Given the description of an element on the screen output the (x, y) to click on. 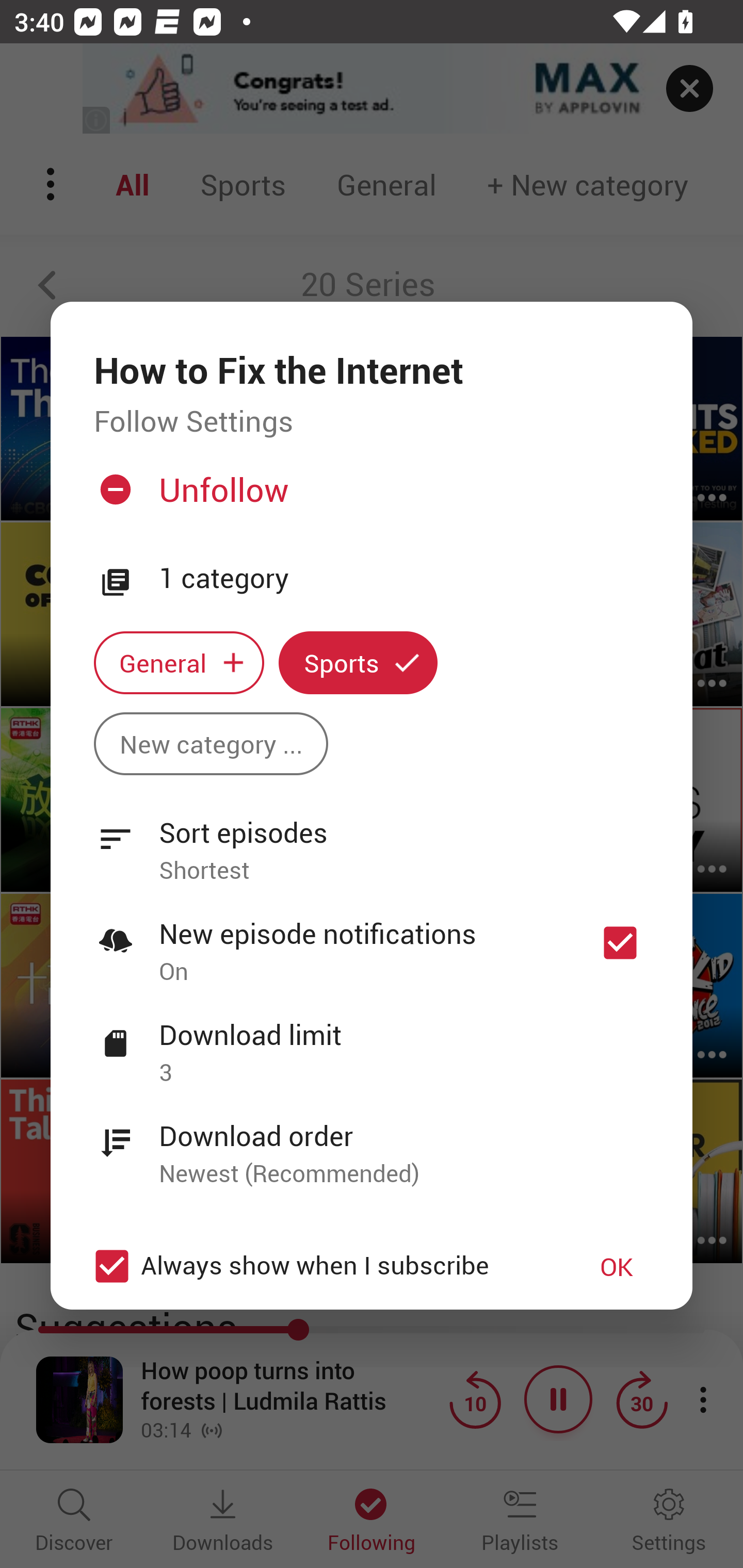
Unfollow (369, 496)
1 category (404, 578)
General (178, 662)
Sports (357, 662)
New category ... (210, 742)
Sort episodes Shortest (371, 840)
New episode notifications (620, 943)
Download limit 3 (371, 1042)
Download order Newest (Recommended) (371, 1143)
OK (616, 1266)
Always show when I subscribe (320, 1266)
